Given the description of an element on the screen output the (x, y) to click on. 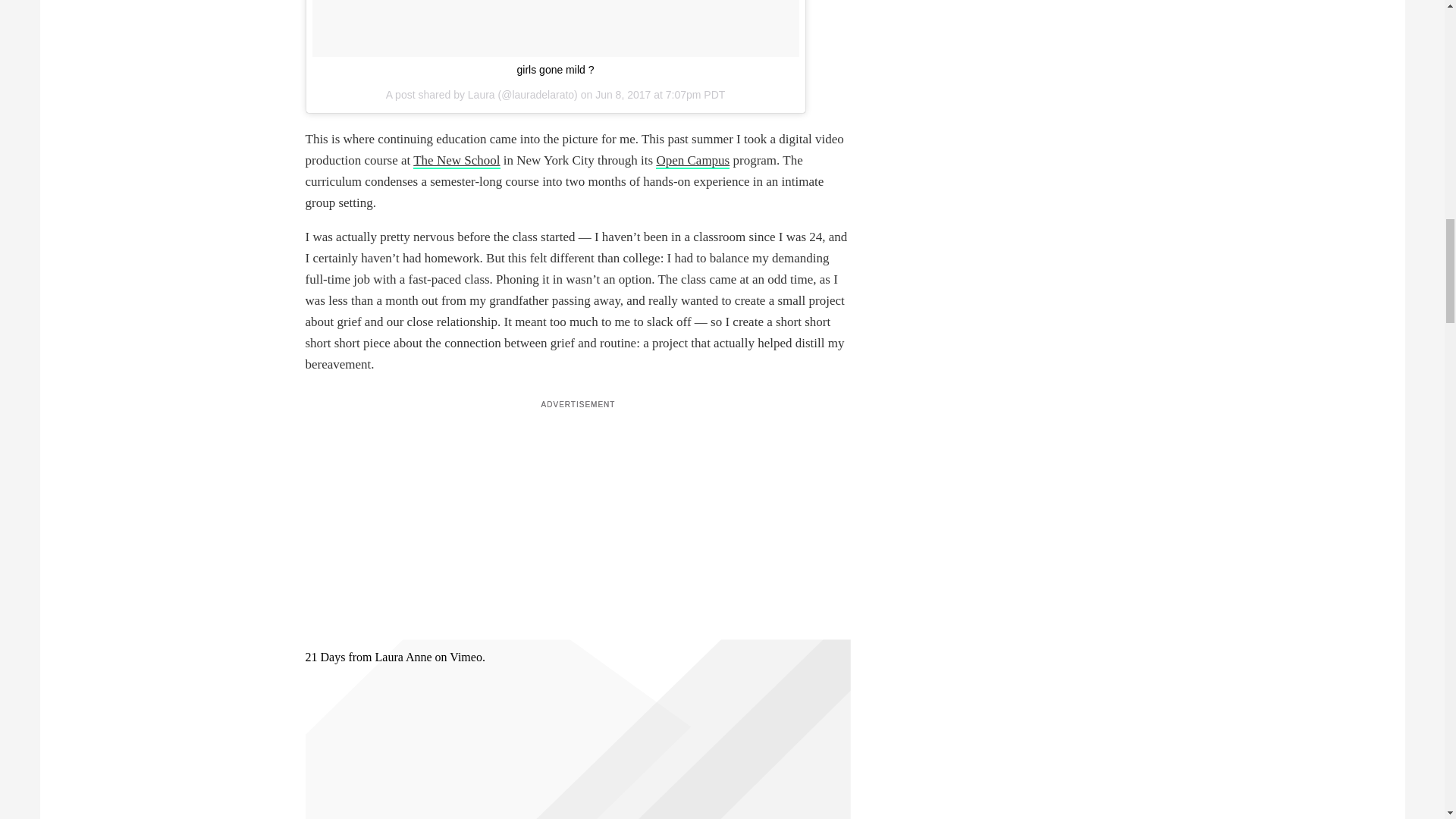
Vimeo (465, 656)
21 Days (324, 656)
girls gone mild ? (555, 69)
The New School (456, 160)
Laura Anne (402, 656)
Open Campus (692, 160)
